Given the description of an element on the screen output the (x, y) to click on. 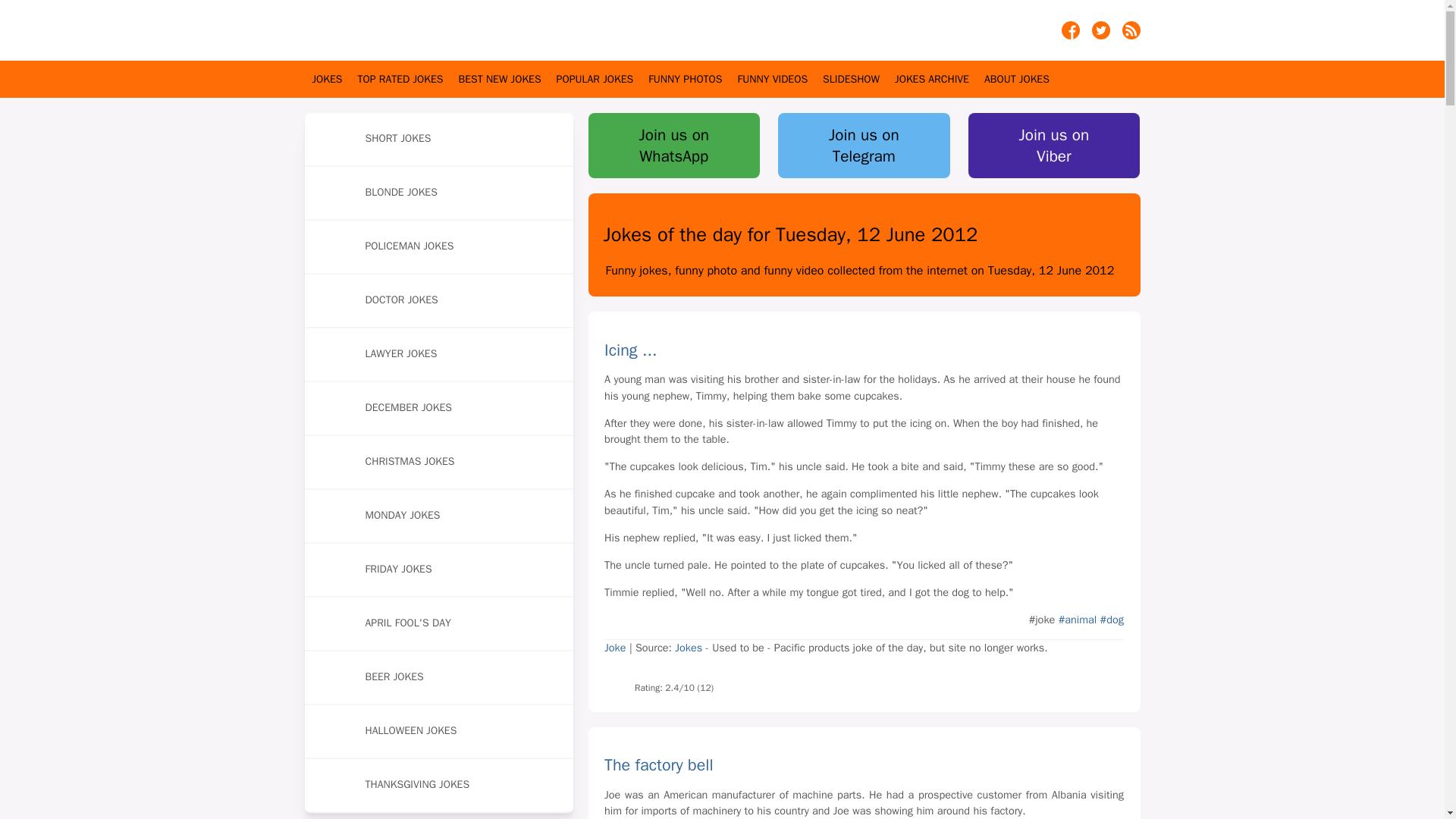
Funny Photos (684, 78)
Joke (615, 647)
The best jokes in the last 4 weeks (499, 78)
Jokes of the day on RSS feed (1131, 35)
Jokes Of The Day (376, 29)
FUNNY PHOTOS (684, 78)
Like (617, 679)
TOP RATED JOKES (401, 78)
BEST NEW JOKES (499, 78)
Jokes Archive (932, 78)
